Given the description of an element on the screen output the (x, y) to click on. 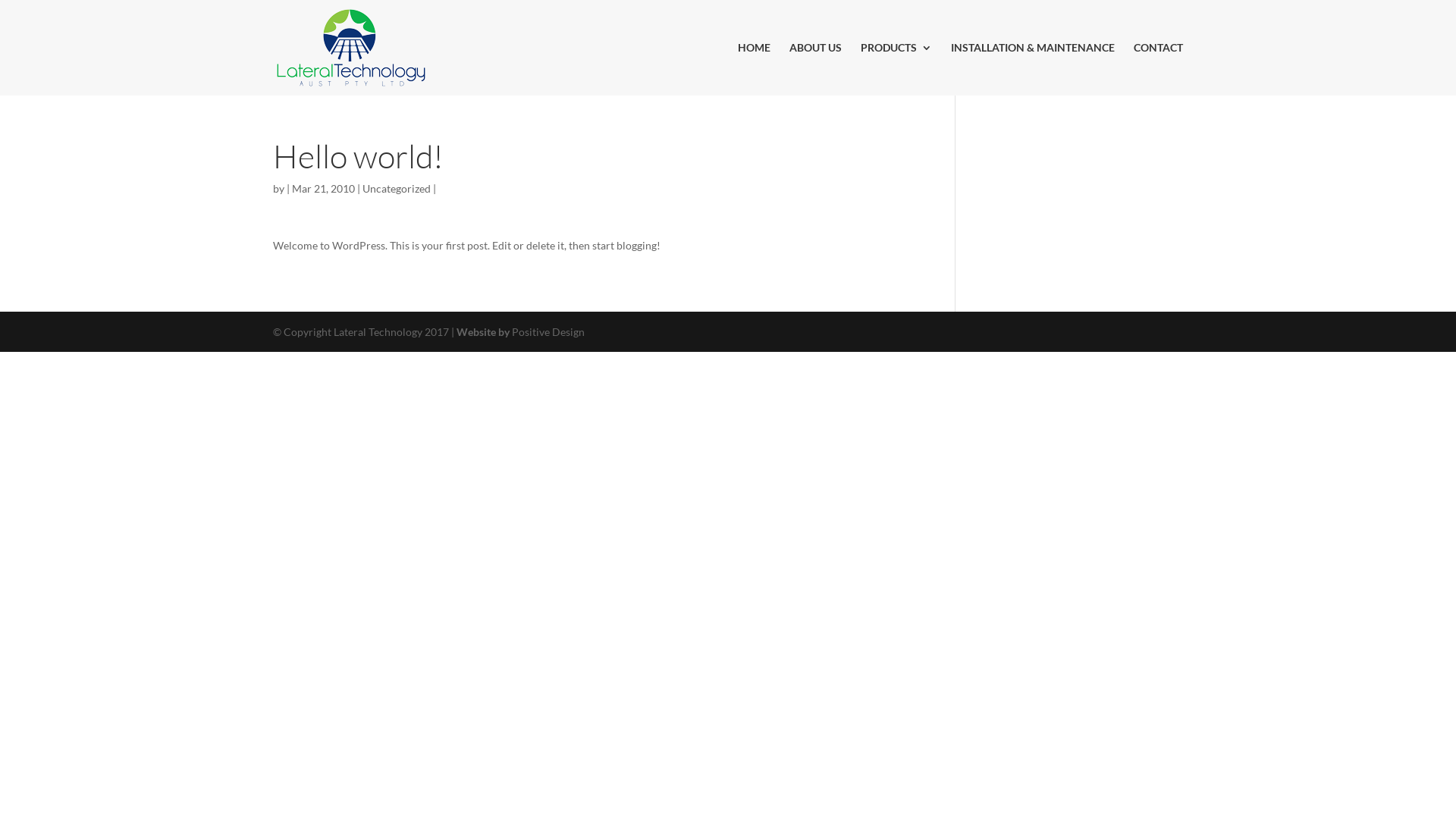
CONTACT Element type: text (1158, 68)
Website by Element type: text (483, 331)
Uncategorized Element type: text (396, 188)
INSTALLATION & MAINTENANCE Element type: text (1032, 68)
ABOUT US Element type: text (815, 68)
PRODUCTS Element type: text (895, 68)
HOME Element type: text (753, 68)
